Given the description of an element on the screen output the (x, y) to click on. 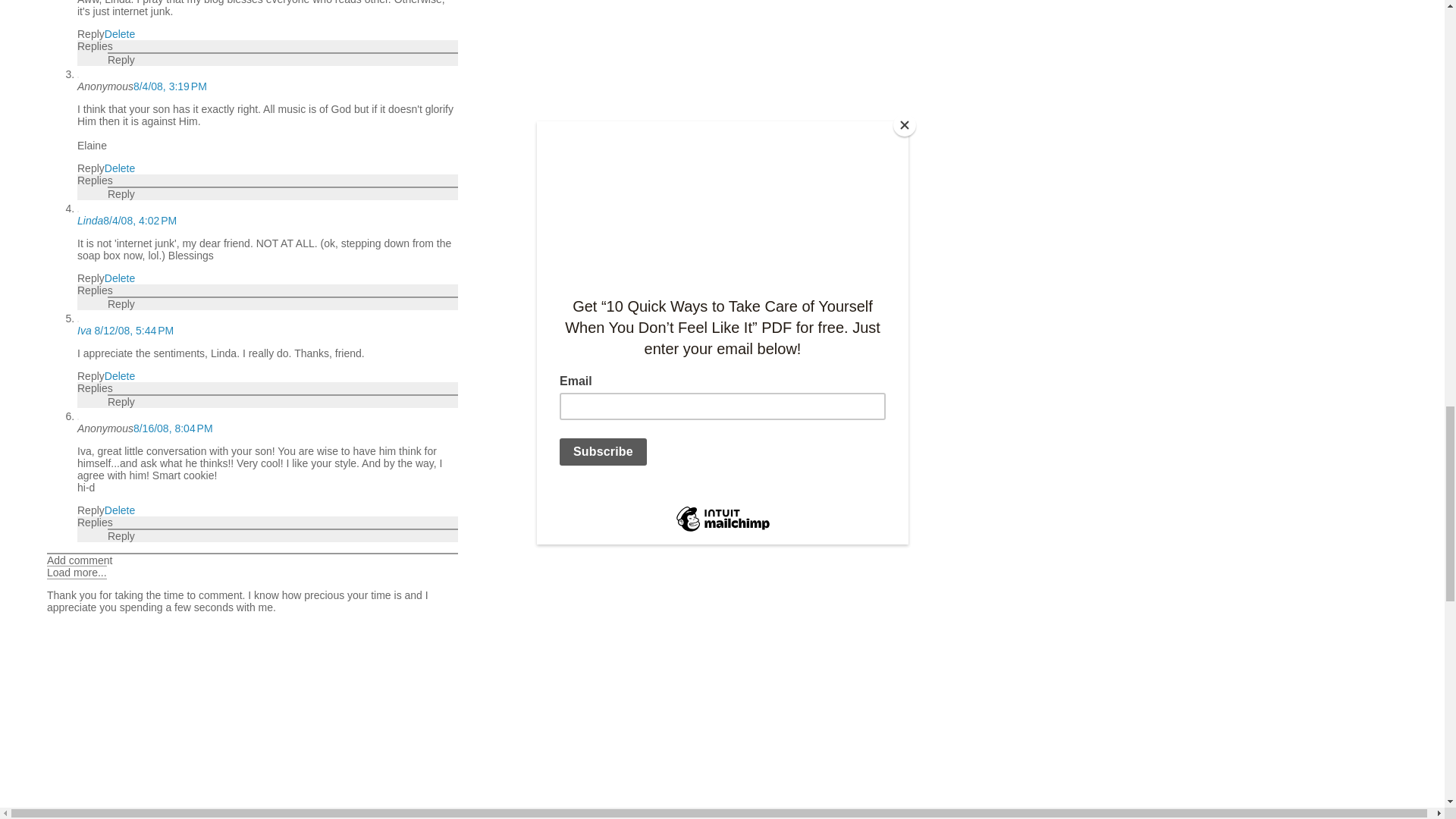
Delete (119, 168)
Replies (95, 46)
Delete (119, 33)
Reply (121, 193)
Reply (90, 168)
Reply (90, 33)
Linda (90, 220)
Replies (95, 180)
Reply (90, 277)
Reply (121, 60)
